Given the description of an element on the screen output the (x, y) to click on. 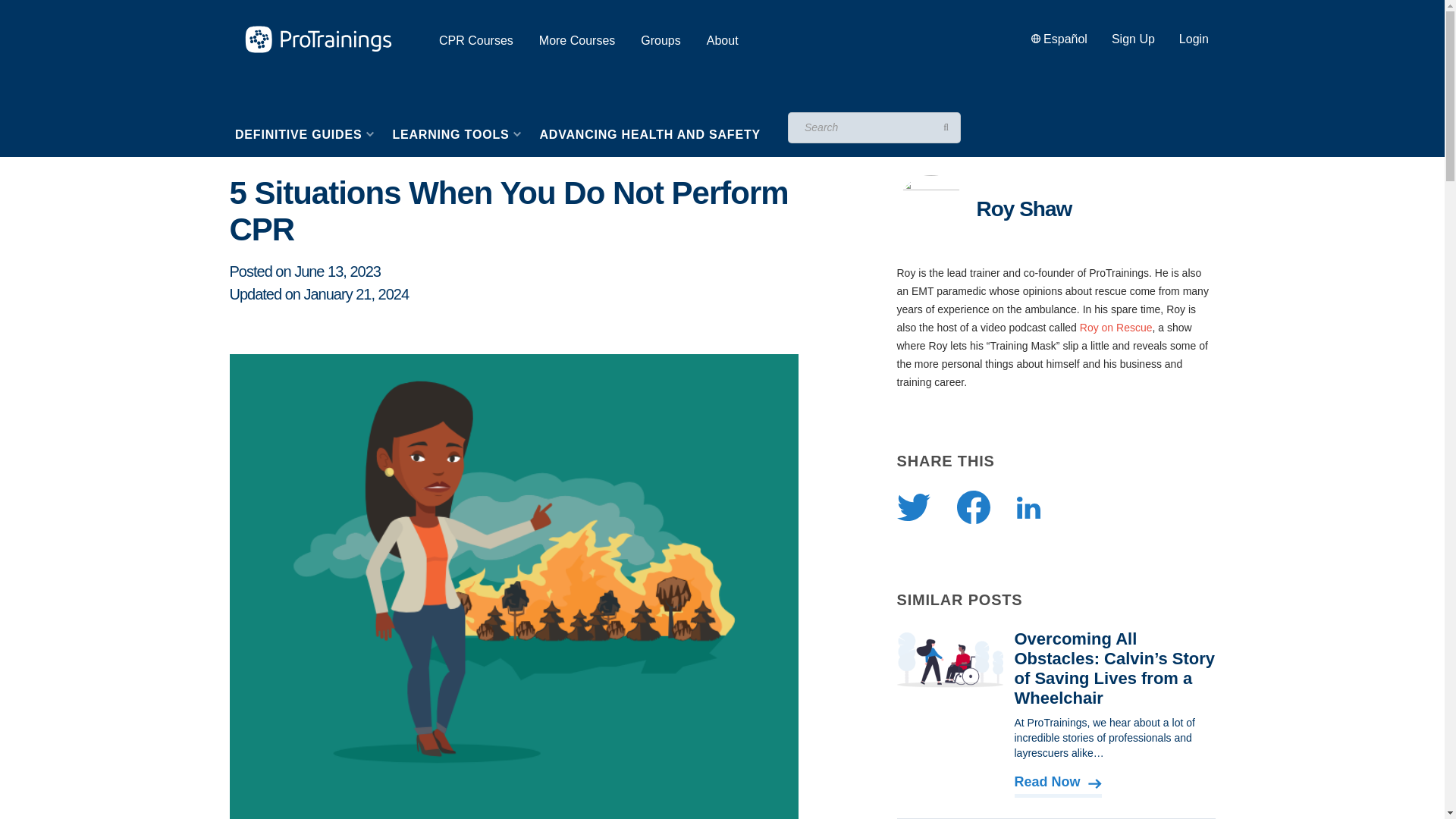
More Courses (576, 40)
About (722, 40)
CPR Courses (475, 40)
Read Now (1058, 783)
Groups (660, 40)
DEFINITIVE GUIDES (303, 134)
Roy on Rescue (1116, 327)
Login (1194, 38)
ADVANCING HEALTH AND SAFETY (649, 134)
Sign Up (1133, 38)
